Given the description of an element on the screen output the (x, y) to click on. 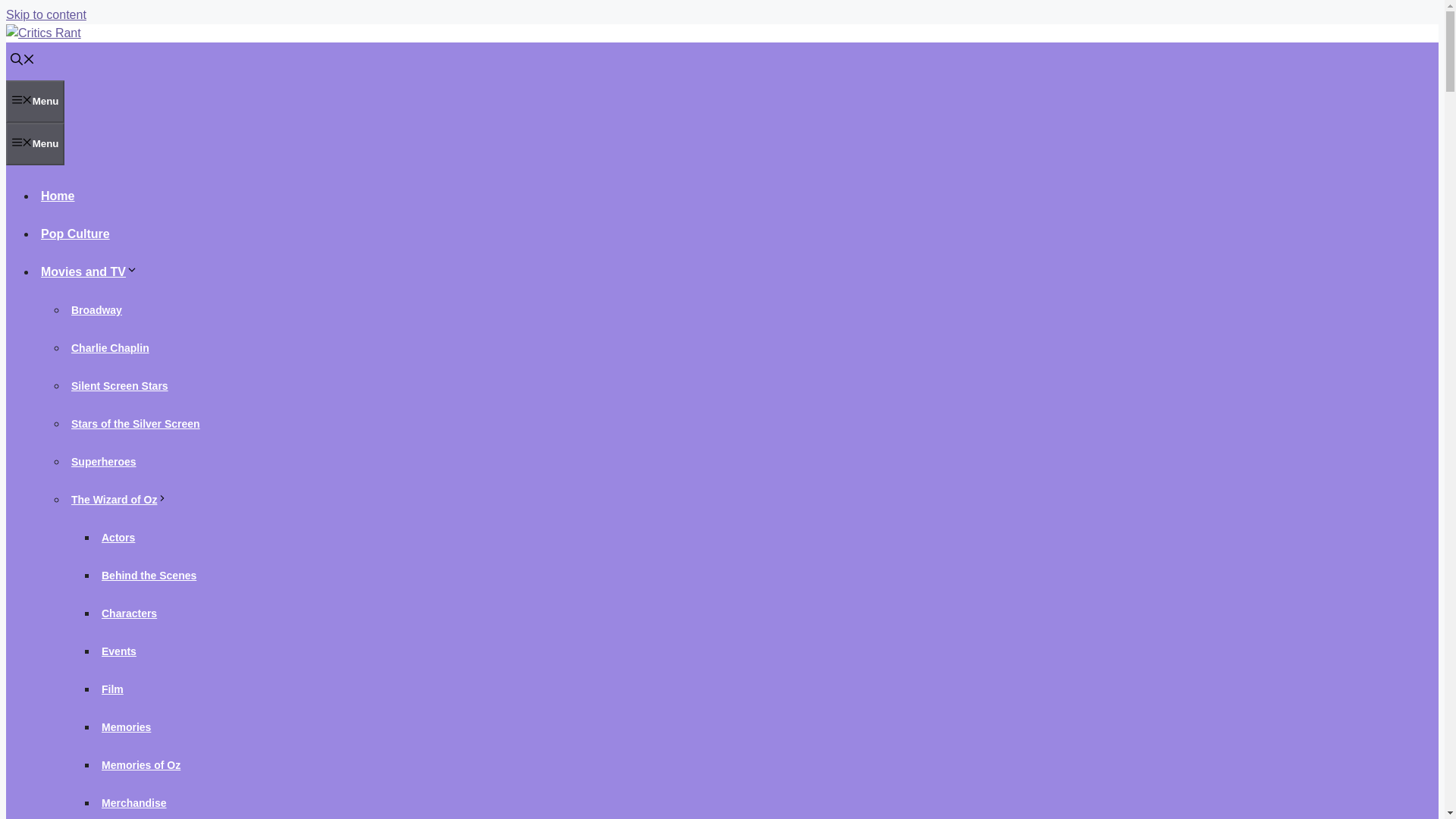
Menu (34, 101)
Film (112, 688)
Broadway (96, 309)
Events (119, 651)
Movies and TV (91, 271)
The Wizard of Oz (121, 499)
Skip to content (45, 14)
Memories (126, 727)
Stars of the Silver Screen (135, 423)
Home (57, 195)
Silent Screen Stars (119, 385)
Merchandise (134, 802)
Charlie Chaplin (110, 347)
Pop Culture (75, 233)
Menu (34, 143)
